Given the description of an element on the screen output the (x, y) to click on. 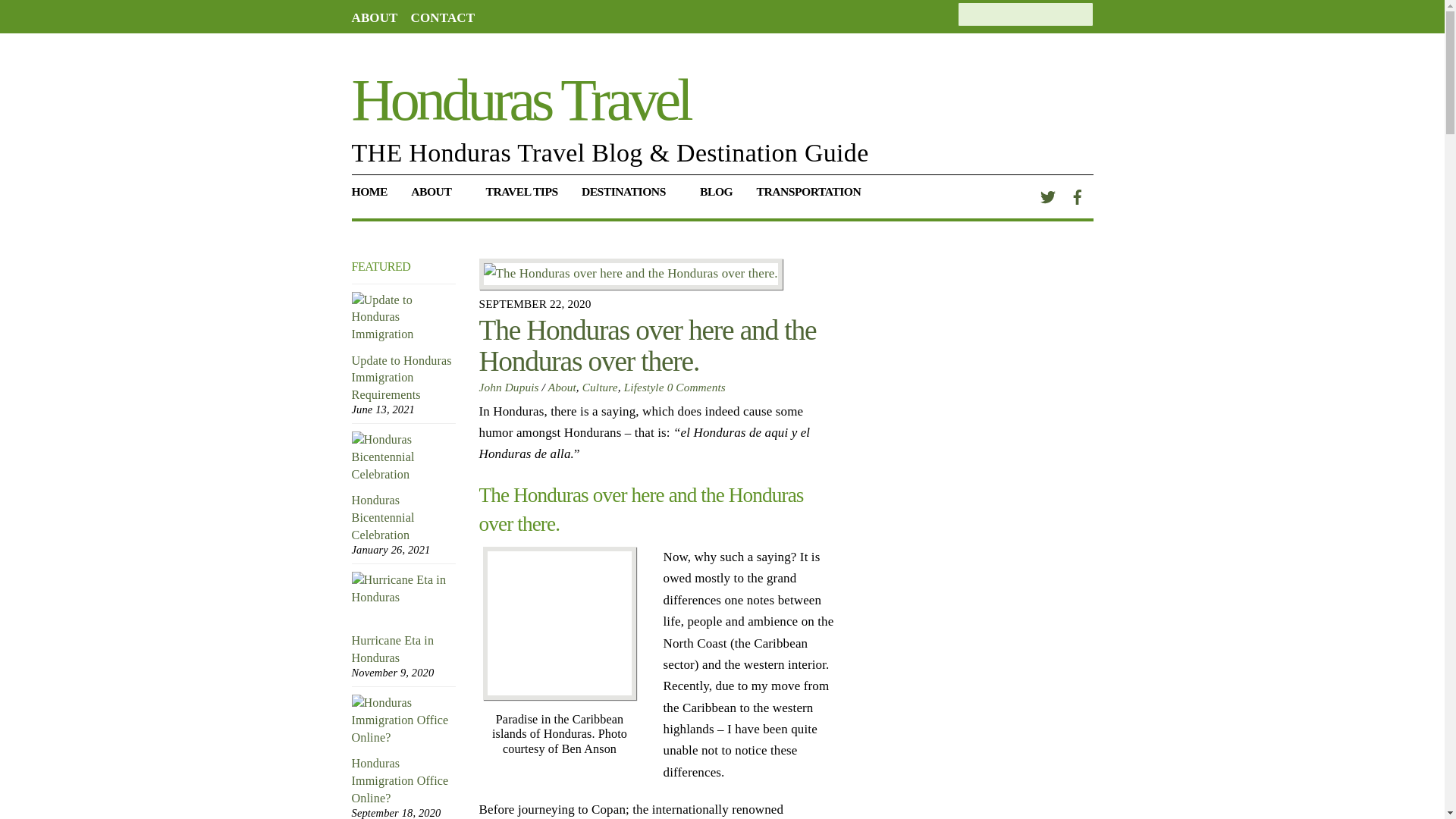
The Honduras over here and the Honduras over there. (631, 273)
travel inspiration (715, 196)
DESTINATIONS (628, 196)
ABOUT (374, 17)
getting around (813, 196)
CONTACT (443, 17)
Honduras Travel (521, 99)
Update to Honduras Immigration Requirements (404, 317)
TRAVEL TIPS (521, 196)
ABOUT (436, 196)
